Given the description of an element on the screen output the (x, y) to click on. 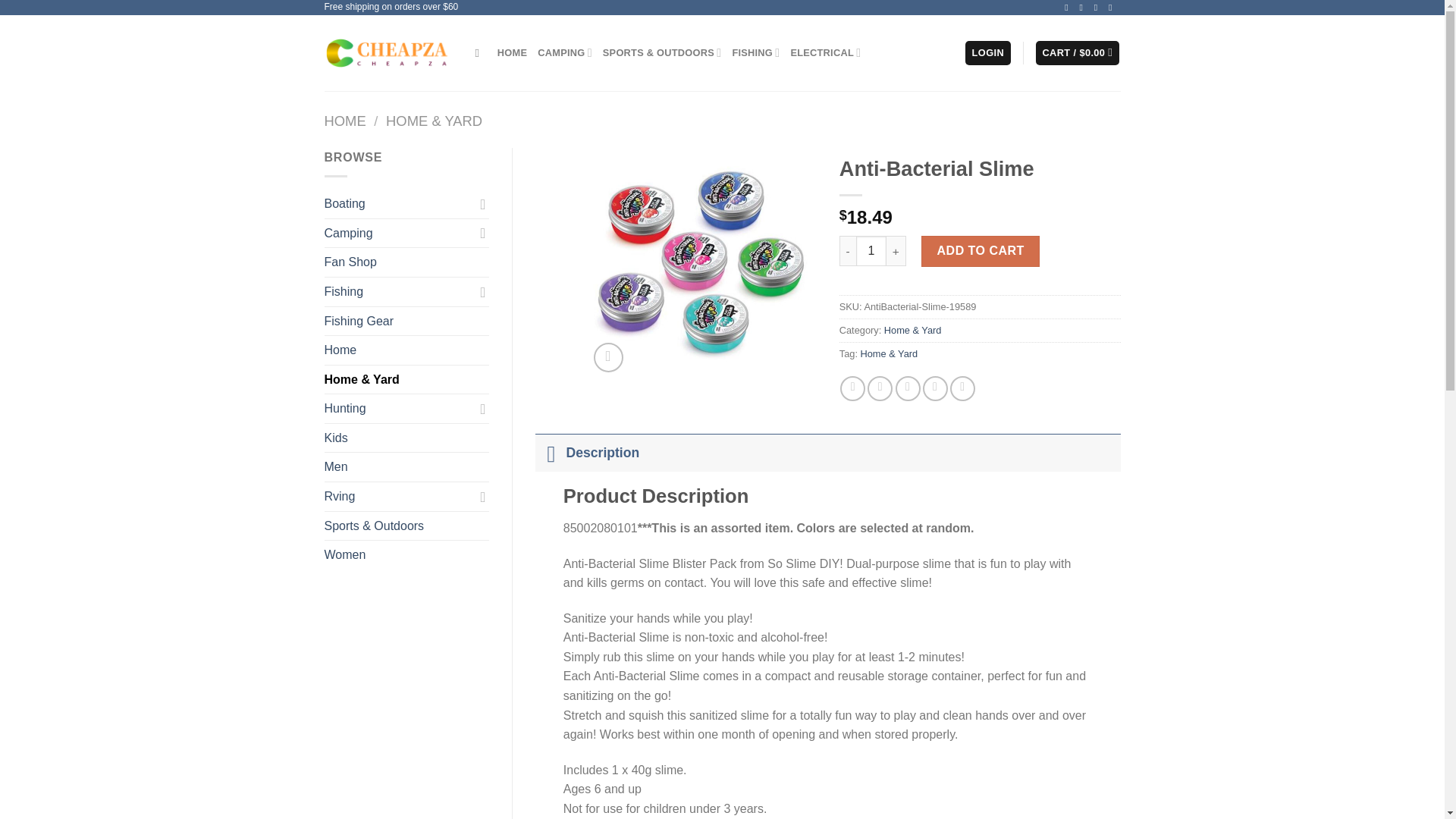
CAMPING (564, 52)
FISHING (755, 52)
85002080101-2.jpg (700, 264)
HOME (512, 52)
LOGIN (987, 53)
HOME (345, 120)
Boating (399, 203)
Cart (1077, 53)
1 (871, 250)
Share on Facebook (852, 388)
